Given the description of an element on the screen output the (x, y) to click on. 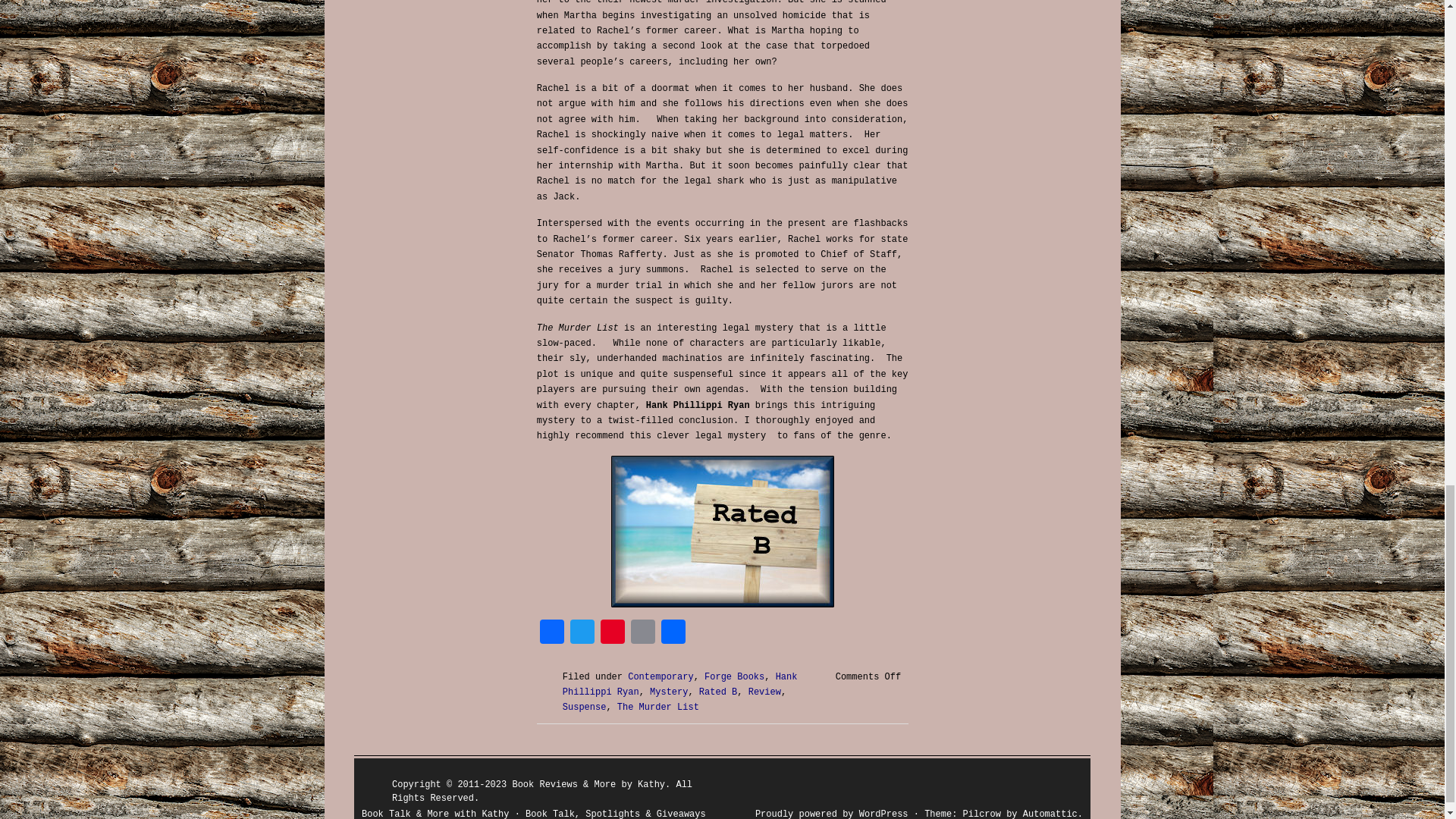
Pinterest (611, 634)
Mystery (668, 692)
Facebook (552, 634)
Pinterest (611, 634)
Facebook (552, 634)
Contemporary (660, 676)
Suspense (584, 706)
B (722, 531)
Hank Phillippi Ryan (679, 684)
The Murder List (657, 706)
